Given the description of an element on the screen output the (x, y) to click on. 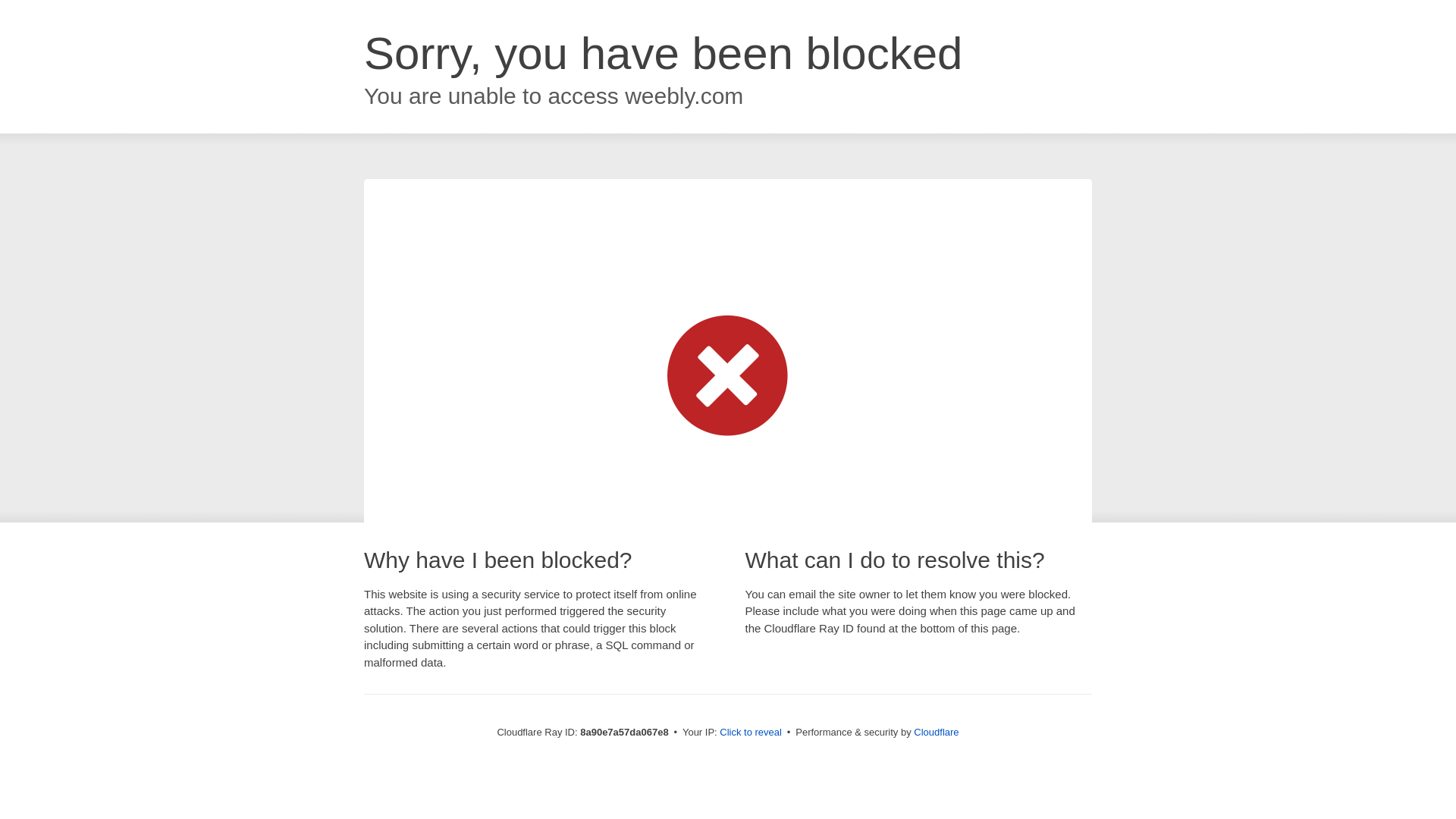
Cloudflare (936, 731)
Click to reveal (750, 732)
